Given the description of an element on the screen output the (x, y) to click on. 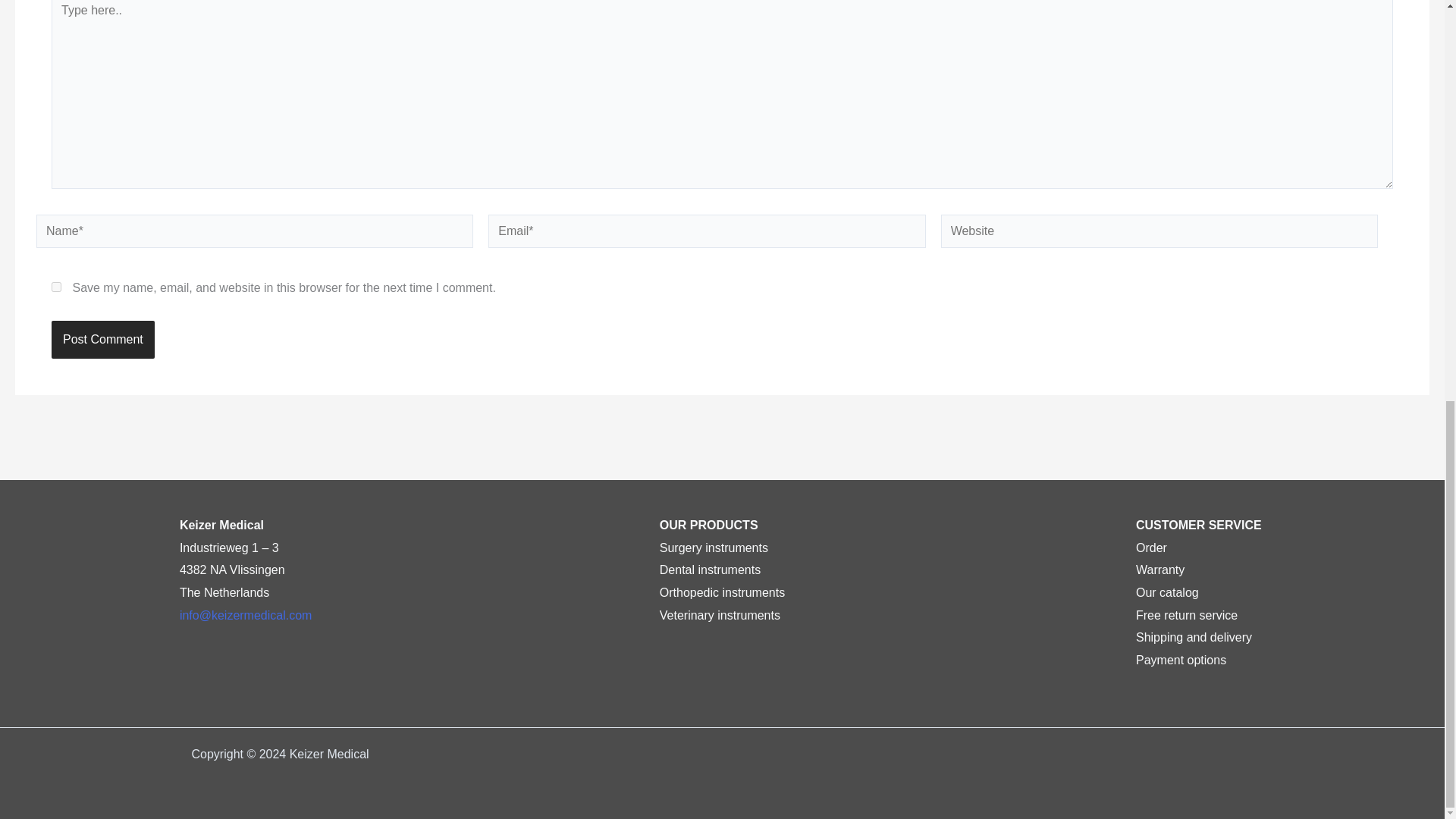
yes (55, 286)
Post Comment (102, 339)
Post Comment (102, 339)
